Given the description of an element on the screen output the (x, y) to click on. 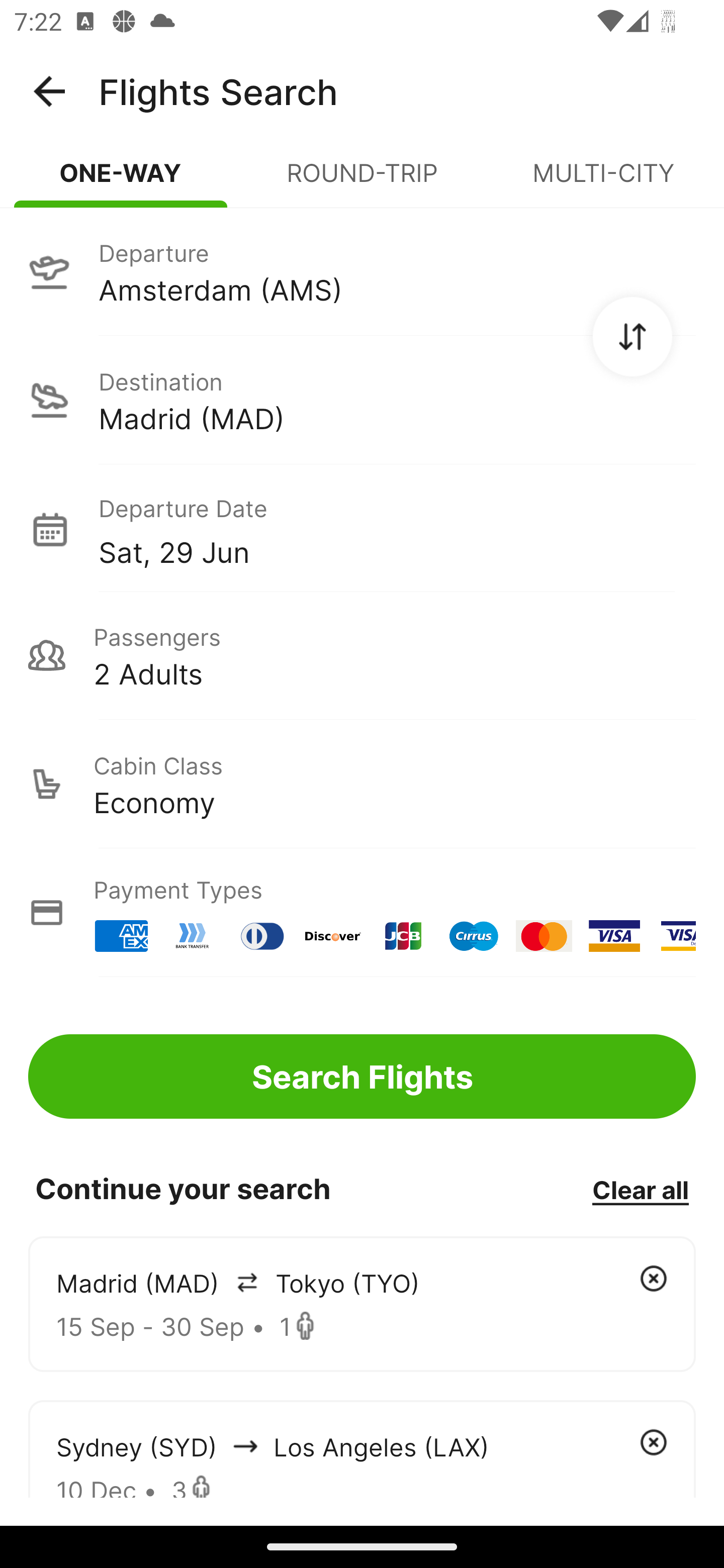
ONE-WAY (120, 180)
ROUND-TRIP (361, 180)
MULTI-CITY (603, 180)
Departure Amsterdam (AMS) (362, 270)
Destination Madrid (MAD) (362, 400)
Departure Date Sat, 29 Jun (396, 528)
Passengers 2 Adults (362, 655)
Cabin Class Economy (362, 783)
Payment Types (362, 912)
Search Flights (361, 1075)
Clear all (640, 1189)
